Given the description of an element on the screen output the (x, y) to click on. 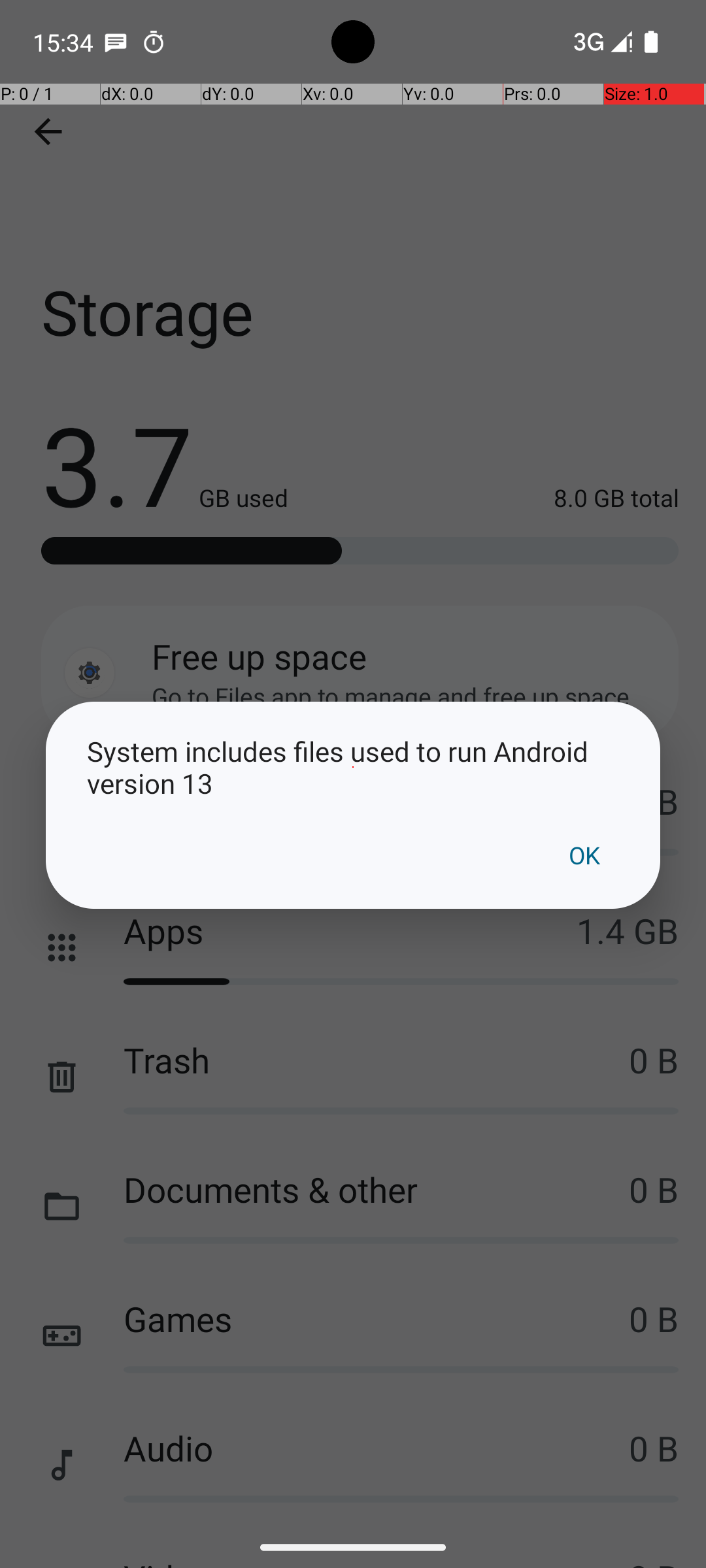
System includes files used to run Android version 13 Element type: android.widget.TextView (352, 766)
